Given the description of an element on the screen output the (x, y) to click on. 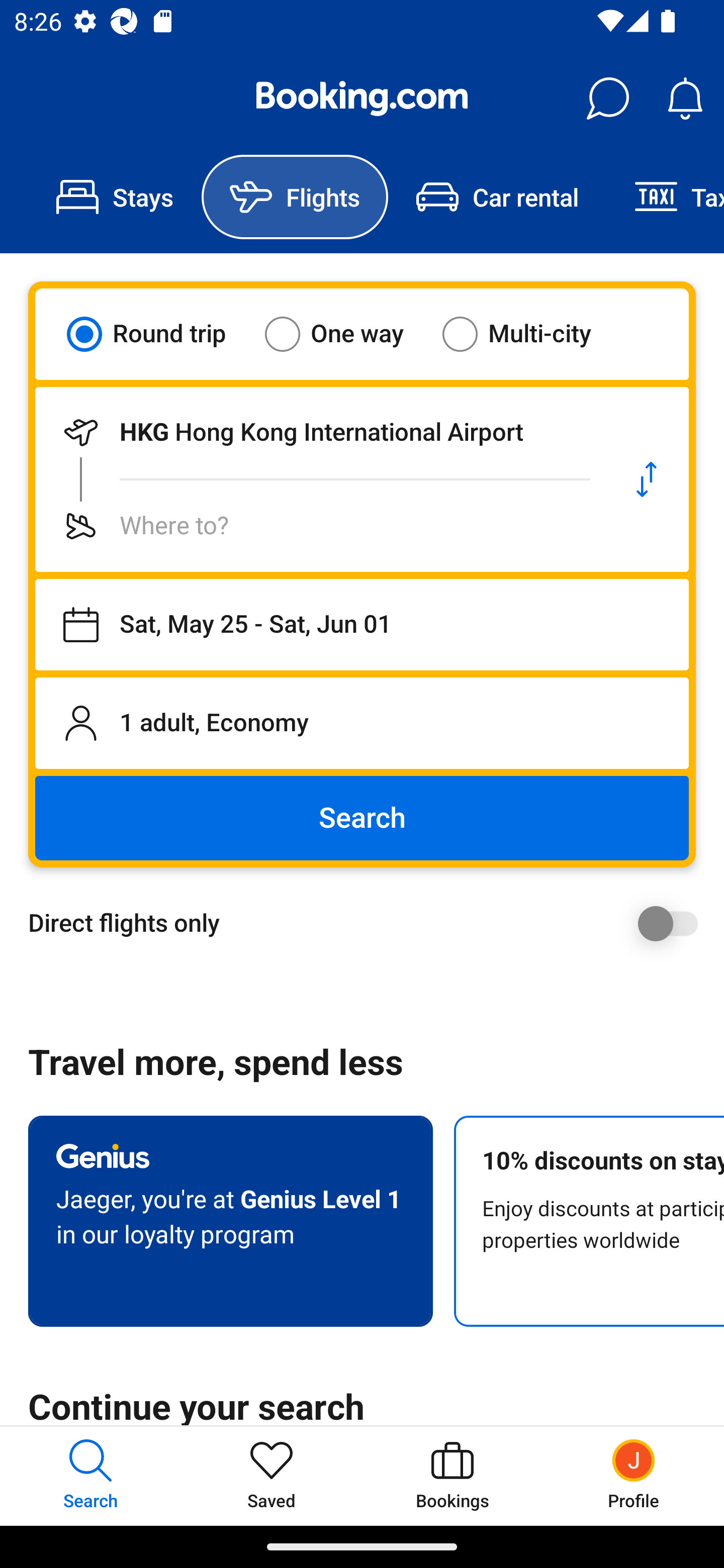
Messages (607, 98)
Notifications (685, 98)
Stays (114, 197)
Flights (294, 197)
Car rental (497, 197)
Taxi (665, 197)
One way (346, 333)
Multi-city (528, 333)
Departing from HKG Hong Kong International Airport (319, 432)
Swap departure location and destination (646, 479)
Flying to  (319, 525)
Departing on Sat, May 25, returning on Sat, Jun 01 (361, 624)
1 adult, Economy (361, 722)
Search (361, 818)
Direct flights only (369, 923)
Saved (271, 1475)
Bookings (452, 1475)
Profile (633, 1475)
